Given the description of an element on the screen output the (x, y) to click on. 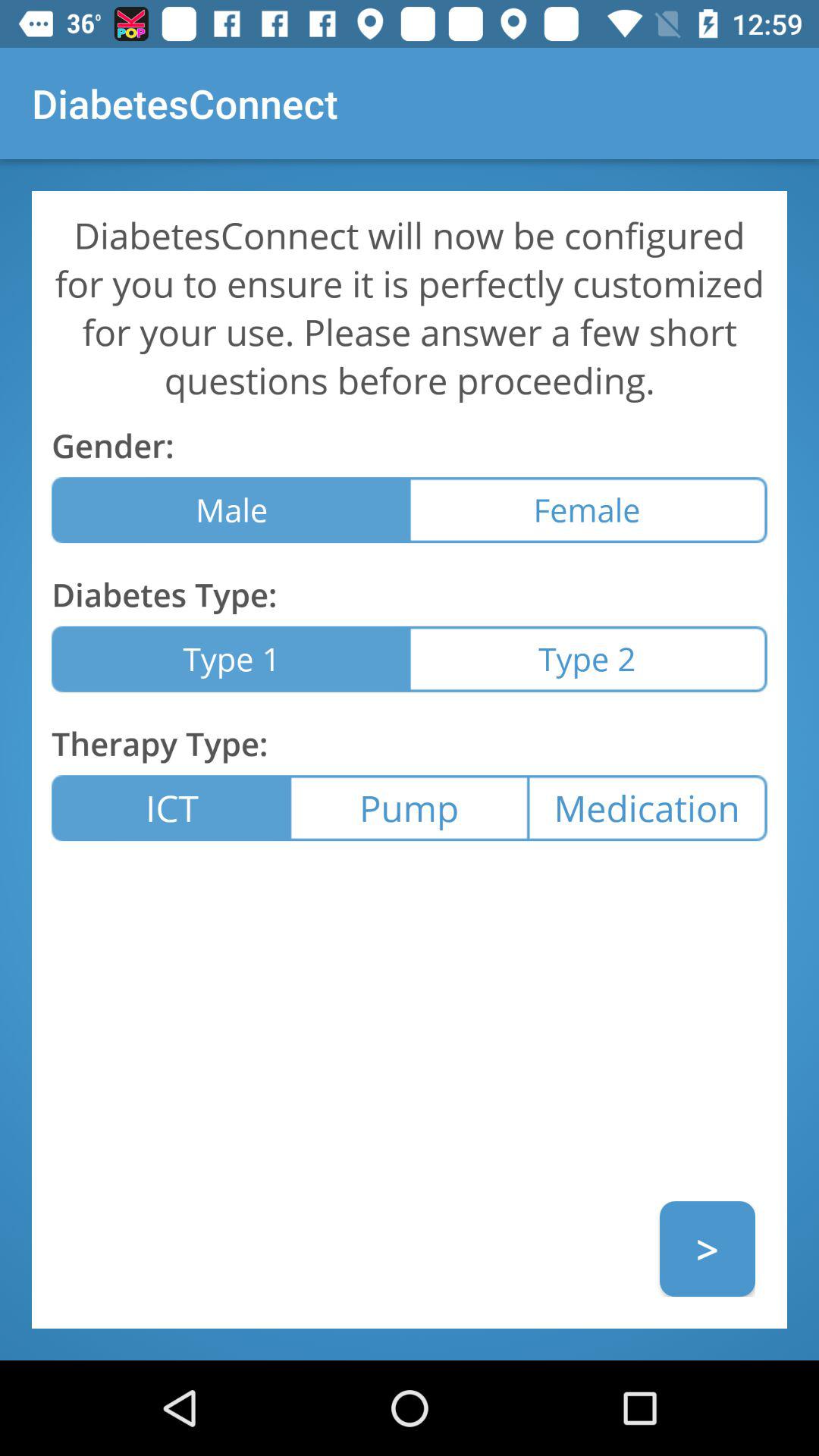
tap icon next to ict item (409, 808)
